Given the description of an element on the screen output the (x, y) to click on. 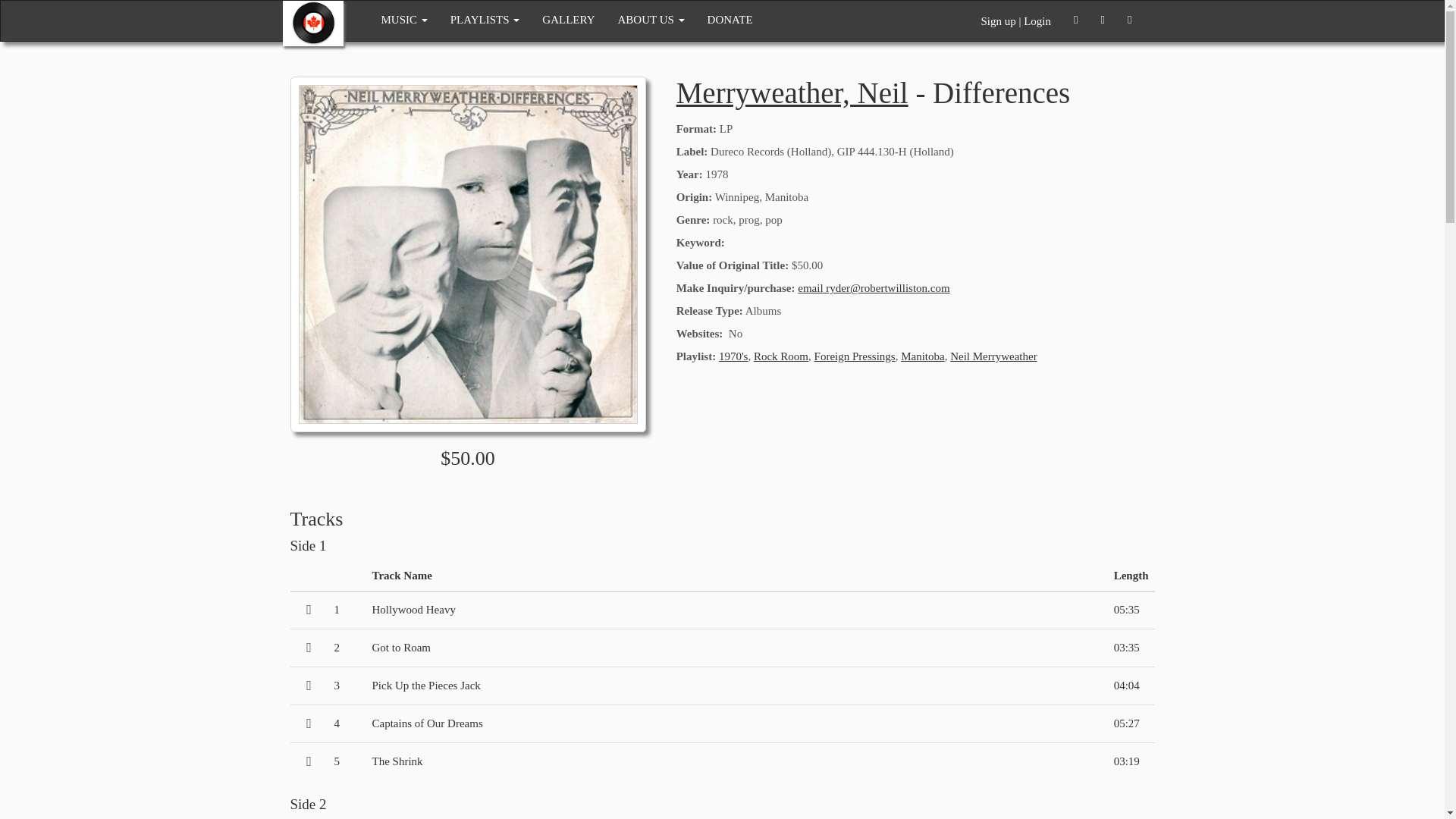
Rock Room (781, 356)
GALLERY (568, 19)
Sign up (996, 21)
Merryweather, Neil (792, 92)
DONATE (729, 19)
ABOUT US (651, 19)
Foreign Pressings (854, 356)
Login (1037, 21)
PLAYLISTS (485, 19)
Neil Merryweather (993, 356)
Manitoba (922, 356)
MUSIC (404, 19)
1970's (733, 356)
